Given the description of an element on the screen output the (x, y) to click on. 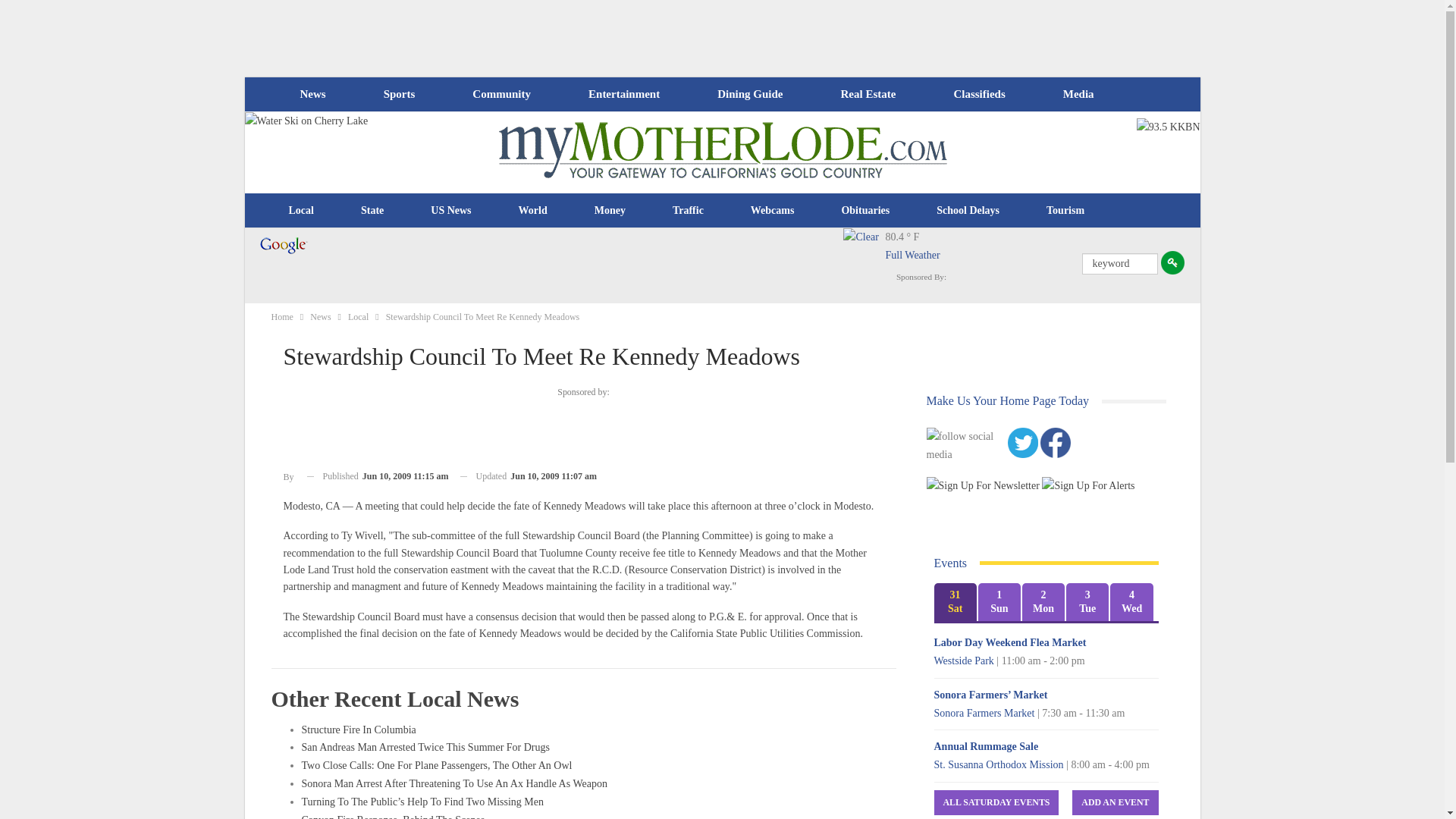
Dining Guide (749, 93)
All Saturday Events (996, 802)
Traffic (687, 210)
Real Estate (868, 93)
Webcams (772, 210)
Media (1078, 93)
News (312, 93)
State (372, 210)
